Given the description of an element on the screen output the (x, y) to click on. 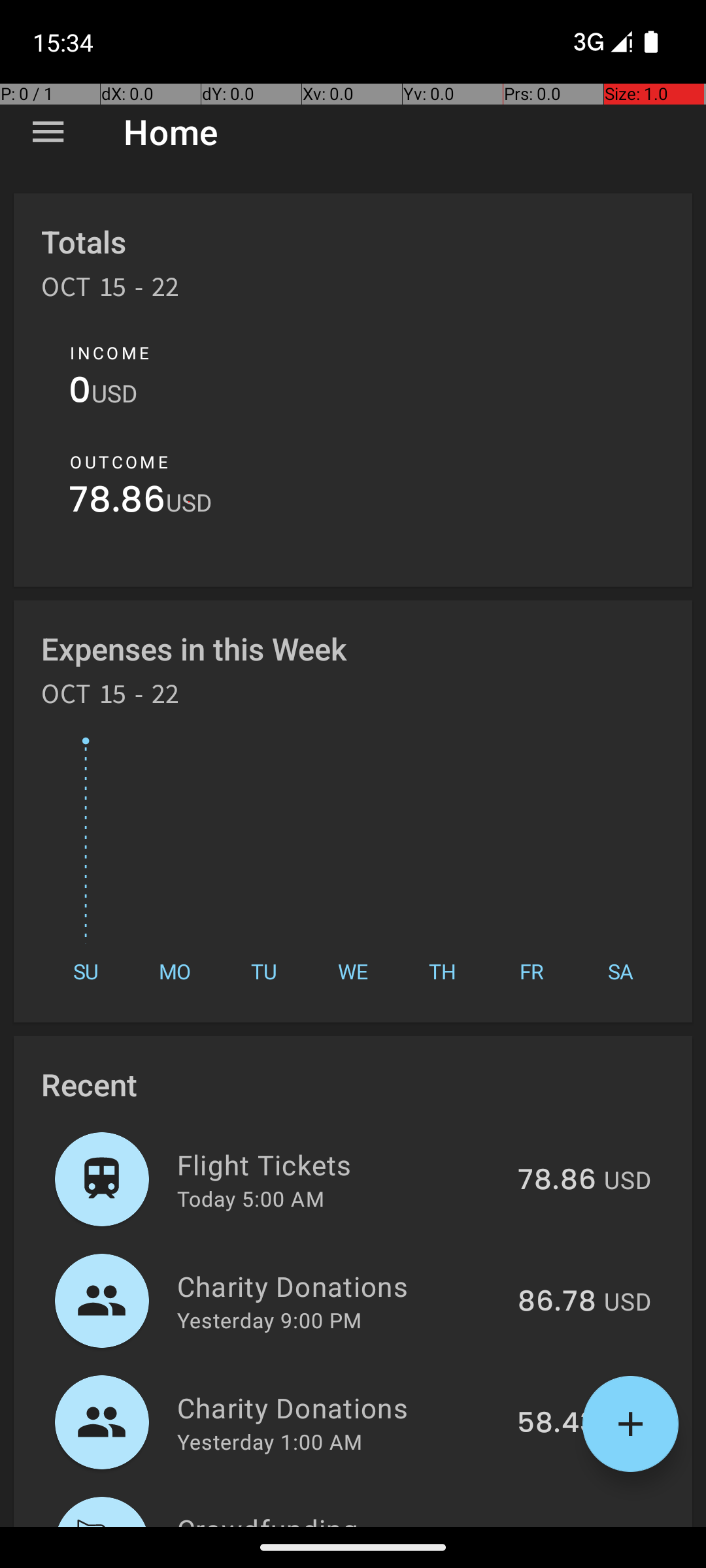
78.86 Element type: android.widget.TextView (117, 502)
Flight Tickets Element type: android.widget.TextView (339, 1164)
Today 5:00 AM Element type: android.widget.TextView (250, 1198)
Charity Donations Element type: android.widget.TextView (339, 1285)
Yesterday 9:00 PM Element type: android.widget.TextView (269, 1320)
86.78 Element type: android.widget.TextView (556, 1301)
Yesterday 1:00 AM Element type: android.widget.TextView (269, 1441)
58.43 Element type: android.widget.TextView (556, 1423)
Crowdfunding Element type: android.widget.TextView (335, 1518)
120.62 Element type: android.widget.TextView (552, 1524)
